Given the description of an element on the screen output the (x, y) to click on. 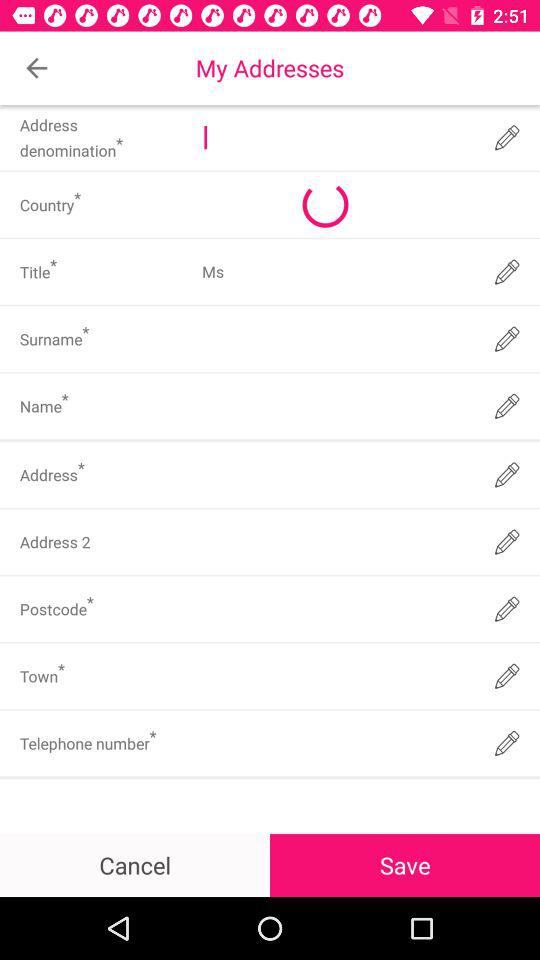
add surname (335, 339)
